Given the description of an element on the screen output the (x, y) to click on. 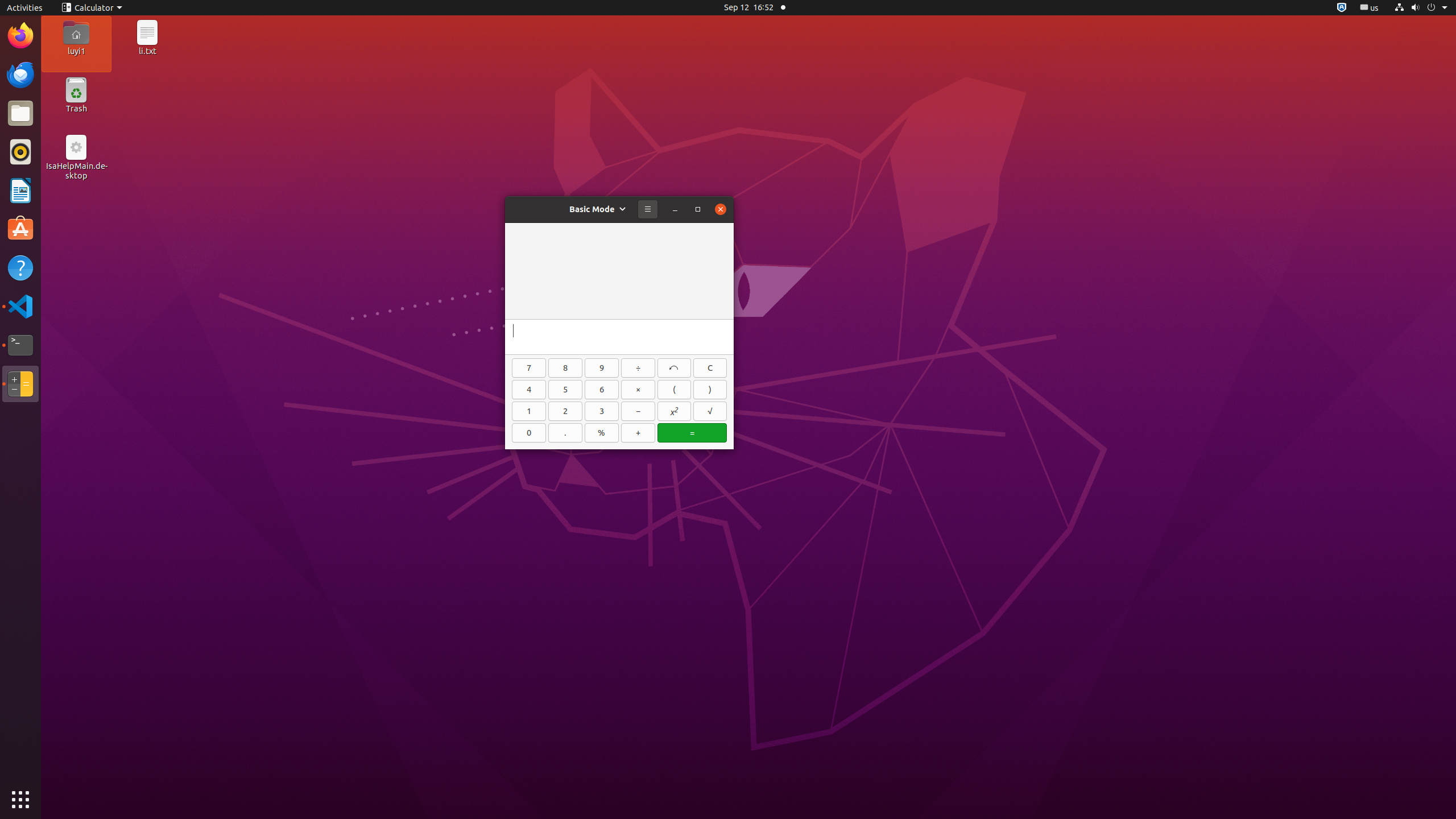
5 Element type: push-button (565, 389)
0 Element type: push-button (528, 432)
Primary menu Element type: toggle-button (647, 209)
